Given the description of an element on the screen output the (x, y) to click on. 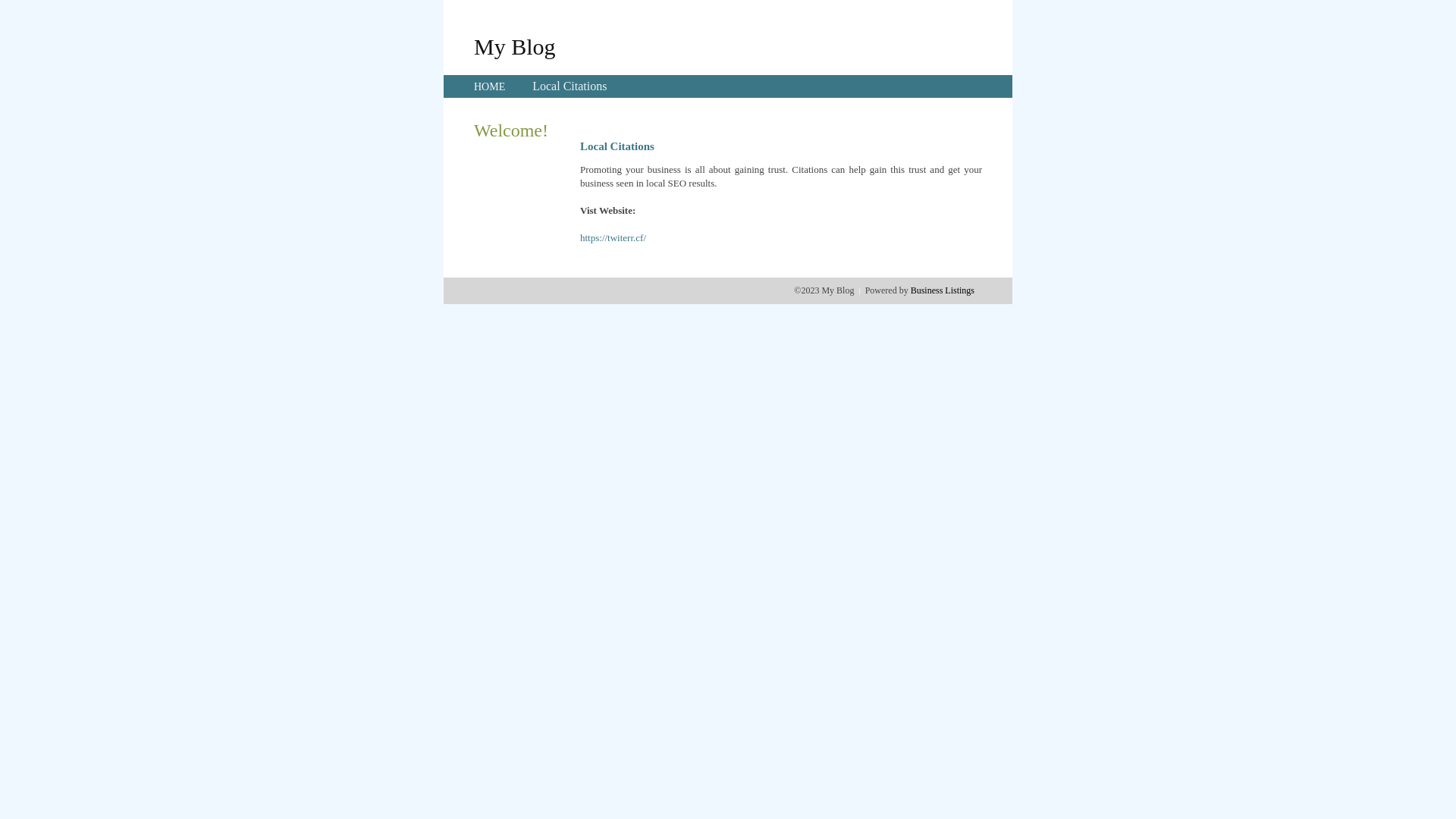
HOME Element type: text (489, 86)
Local Citations Element type: text (569, 85)
Business Listings Element type: text (942, 290)
My Blog Element type: text (514, 46)
https://twiterr.cf/ Element type: text (613, 237)
